Given the description of an element on the screen output the (x, y) to click on. 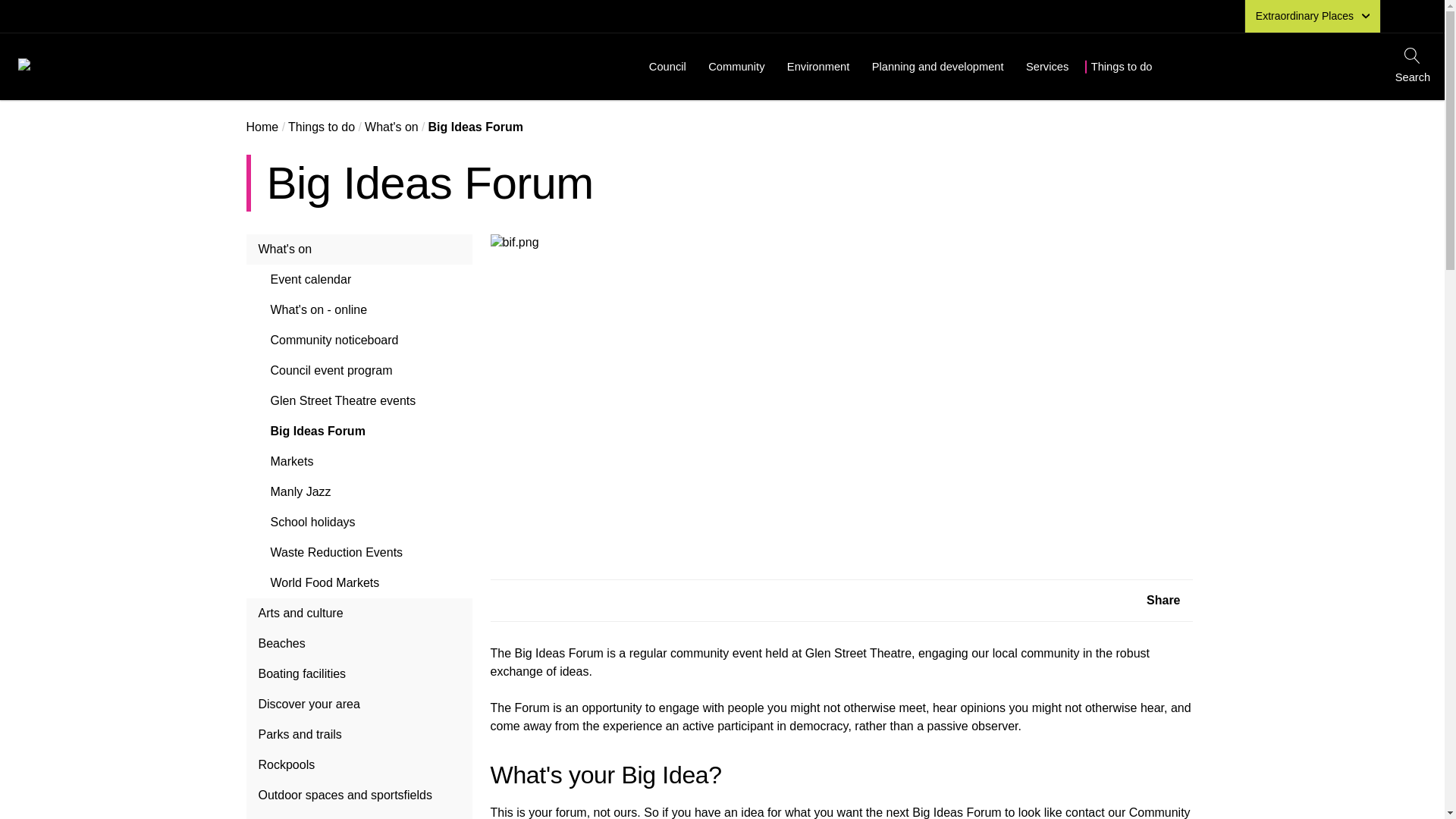
Council (667, 66)
Community (736, 66)
Extraordinary Places (1312, 16)
Northern Beaches Council home page (210, 68)
